Given the description of an element on the screen output the (x, y) to click on. 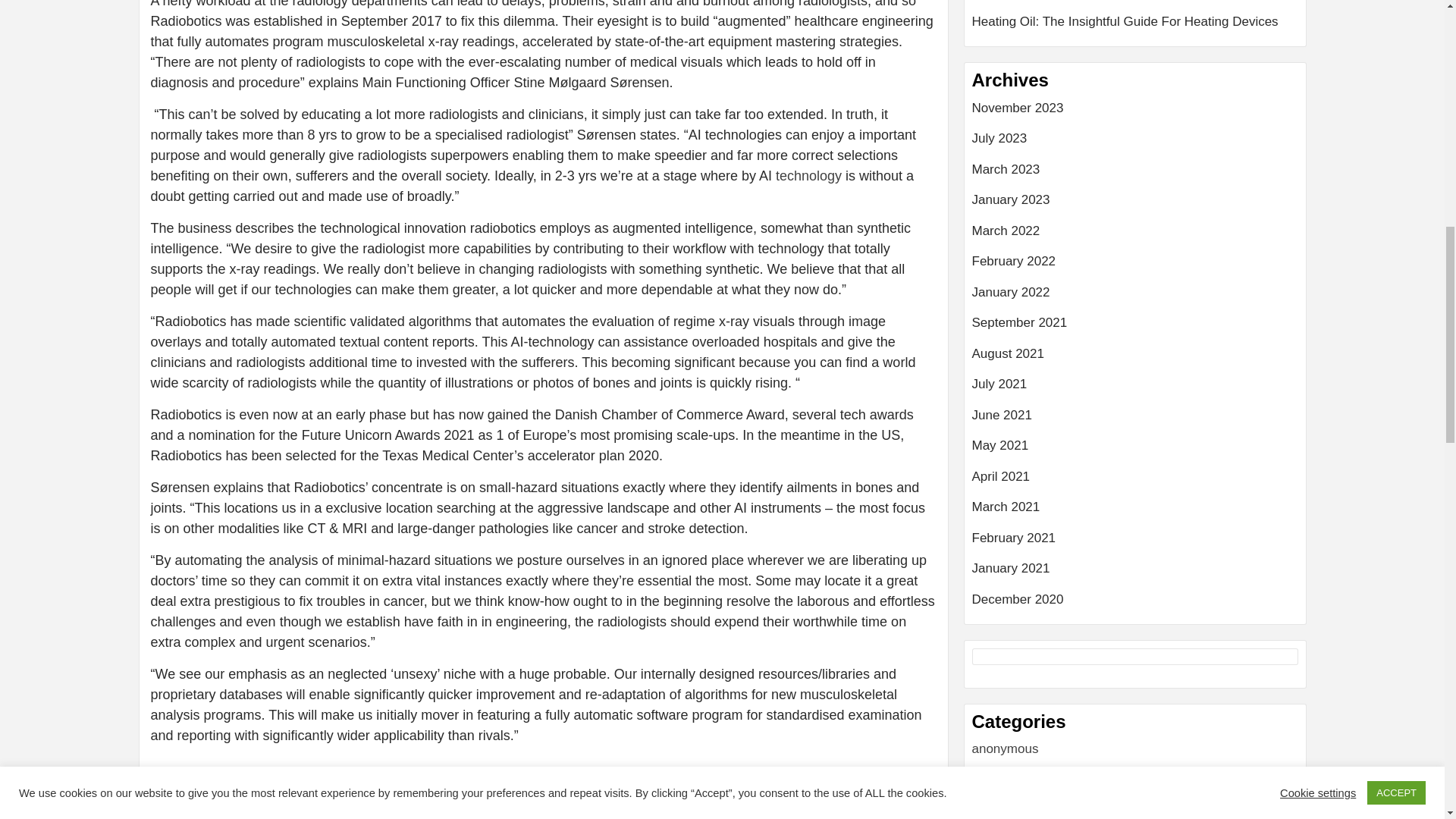
AUGMENTED (217, 776)
March 2022 (1135, 236)
March 2023 (1135, 174)
November 2023 (1135, 113)
technology (808, 175)
Heating Oil: The Insightful Guide For Heating Devices (1135, 21)
INTELLIGENCE (295, 776)
February 2022 (1135, 266)
January 2023 (1135, 205)
TECHNOLOGY (456, 776)
July 2023 (1135, 143)
RADIOBOTICS (376, 776)
January 2022 (1135, 297)
